Given the description of an element on the screen output the (x, y) to click on. 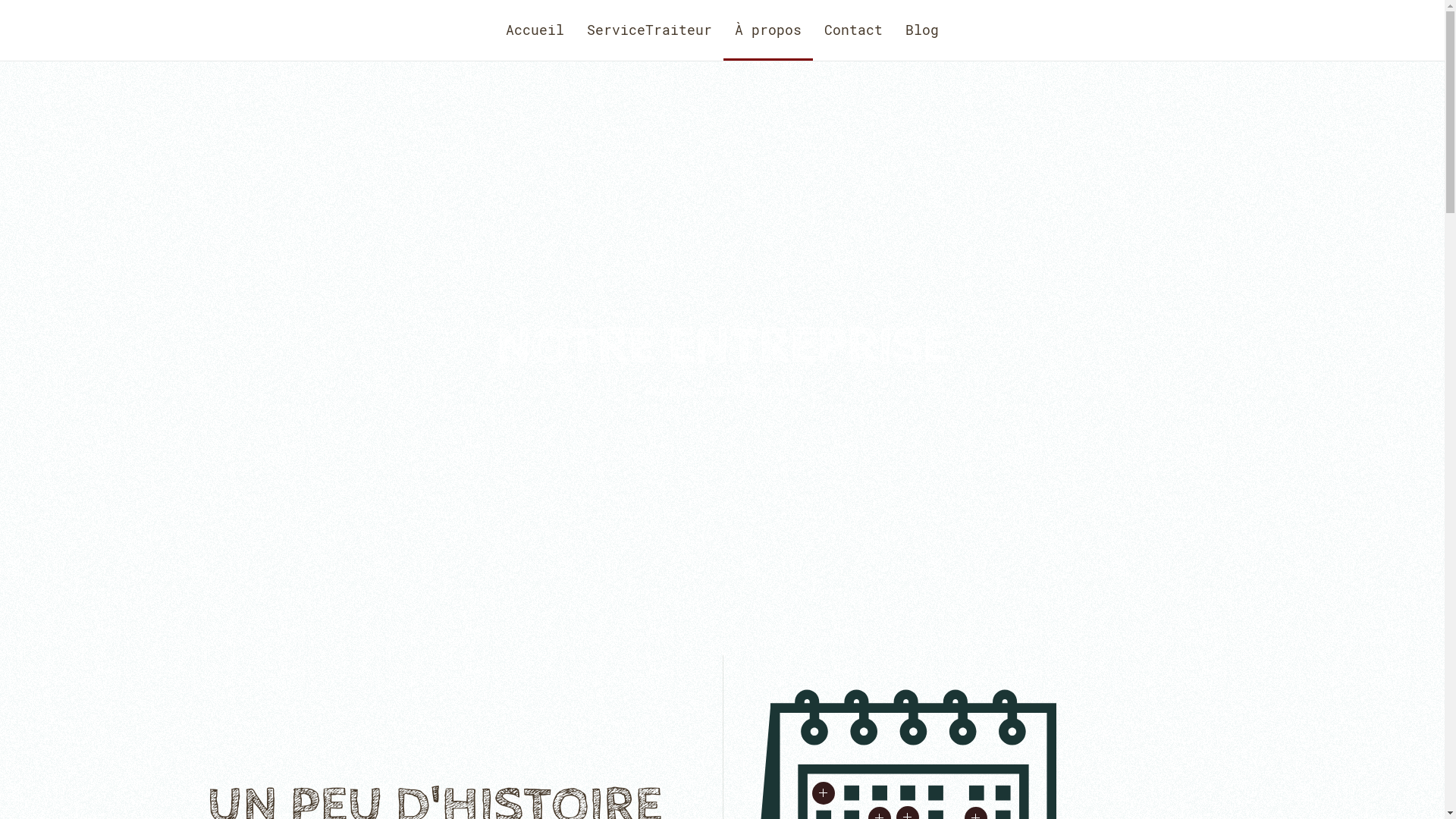
Contact Element type: text (853, 30)
Accueil Element type: text (534, 30)
ServiceTraiteur Element type: text (649, 30)
Blog Element type: text (922, 30)
